Given the description of an element on the screen output the (x, y) to click on. 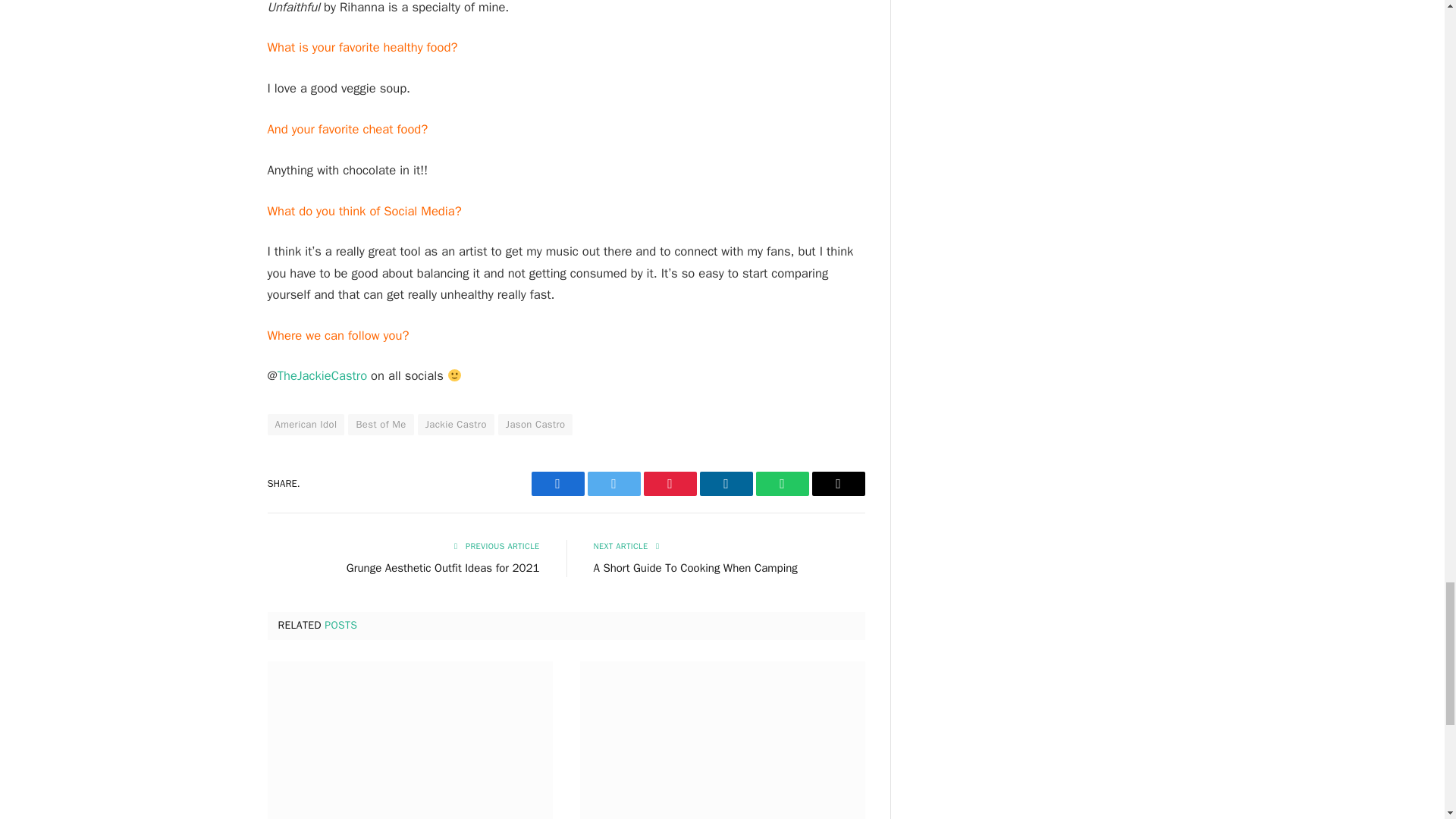
Share on Pinterest (669, 483)
Jackie Castro (456, 424)
Best of Me (380, 424)
Twitter (613, 483)
Share on Facebook (557, 483)
TheJackieCastro (322, 375)
American Idol (304, 424)
Facebook (557, 483)
Share on LinkedIn (725, 483)
Jason Castro (535, 424)
Pinterest (669, 483)
